Given the description of an element on the screen output the (x, y) to click on. 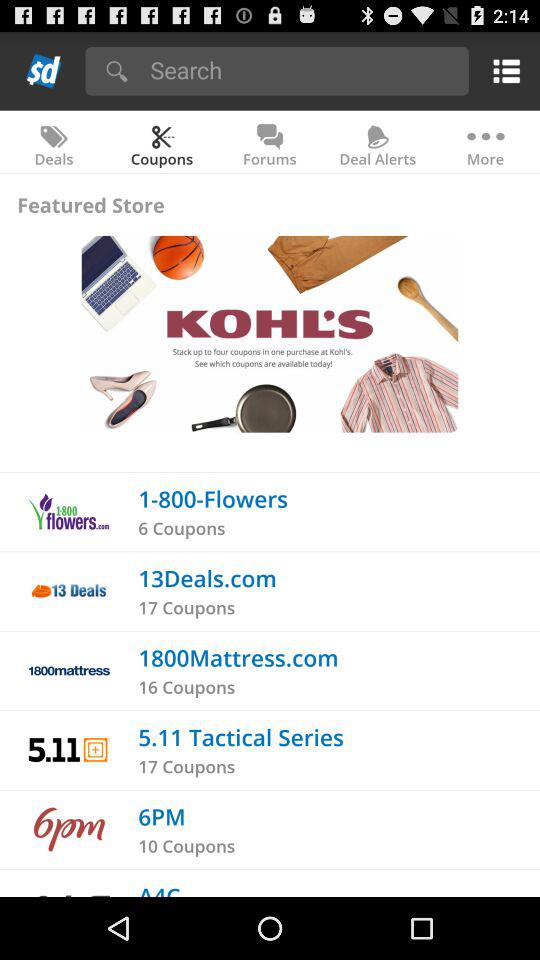
search bar (302, 69)
